Given the description of an element on the screen output the (x, y) to click on. 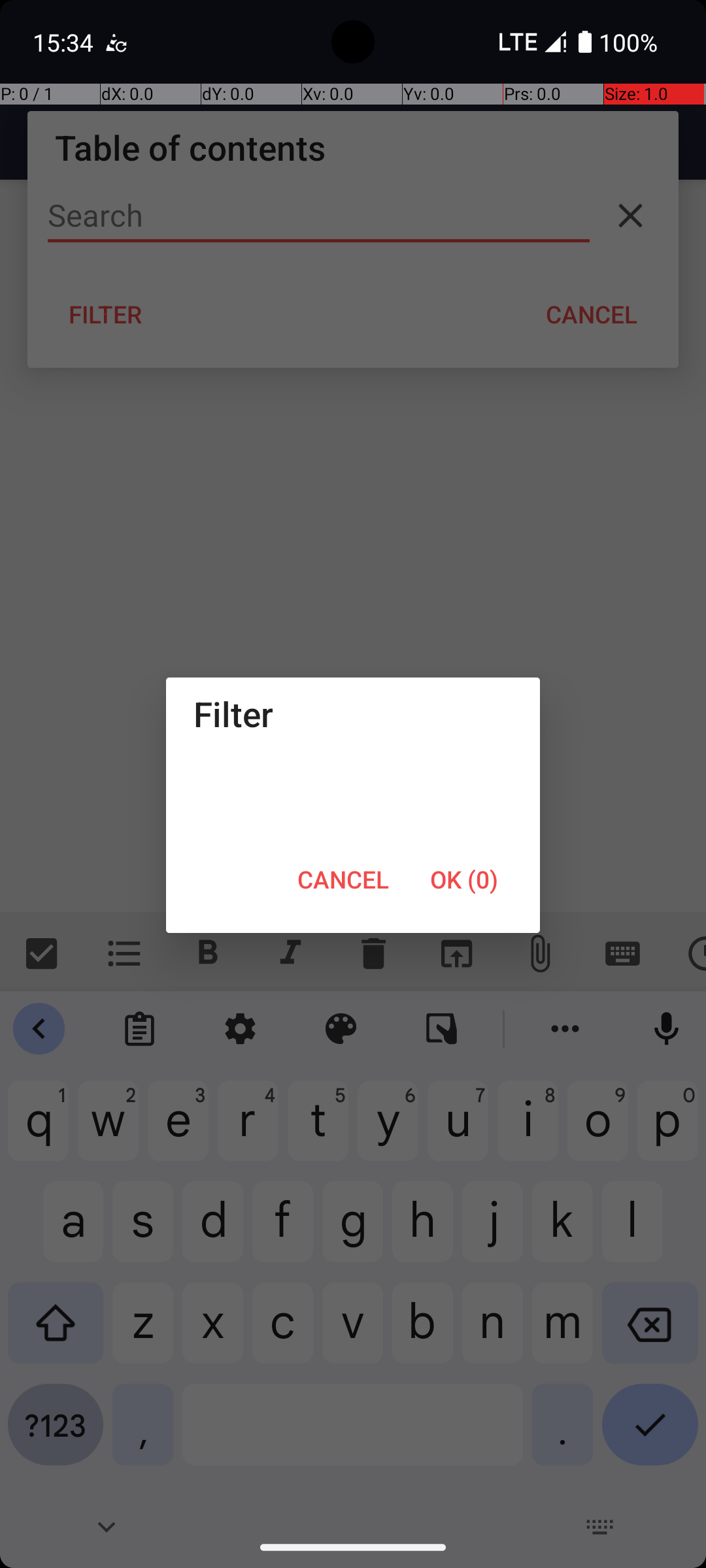
OK (0) Element type: android.widget.Button (464, 879)
